Given the description of an element on the screen output the (x, y) to click on. 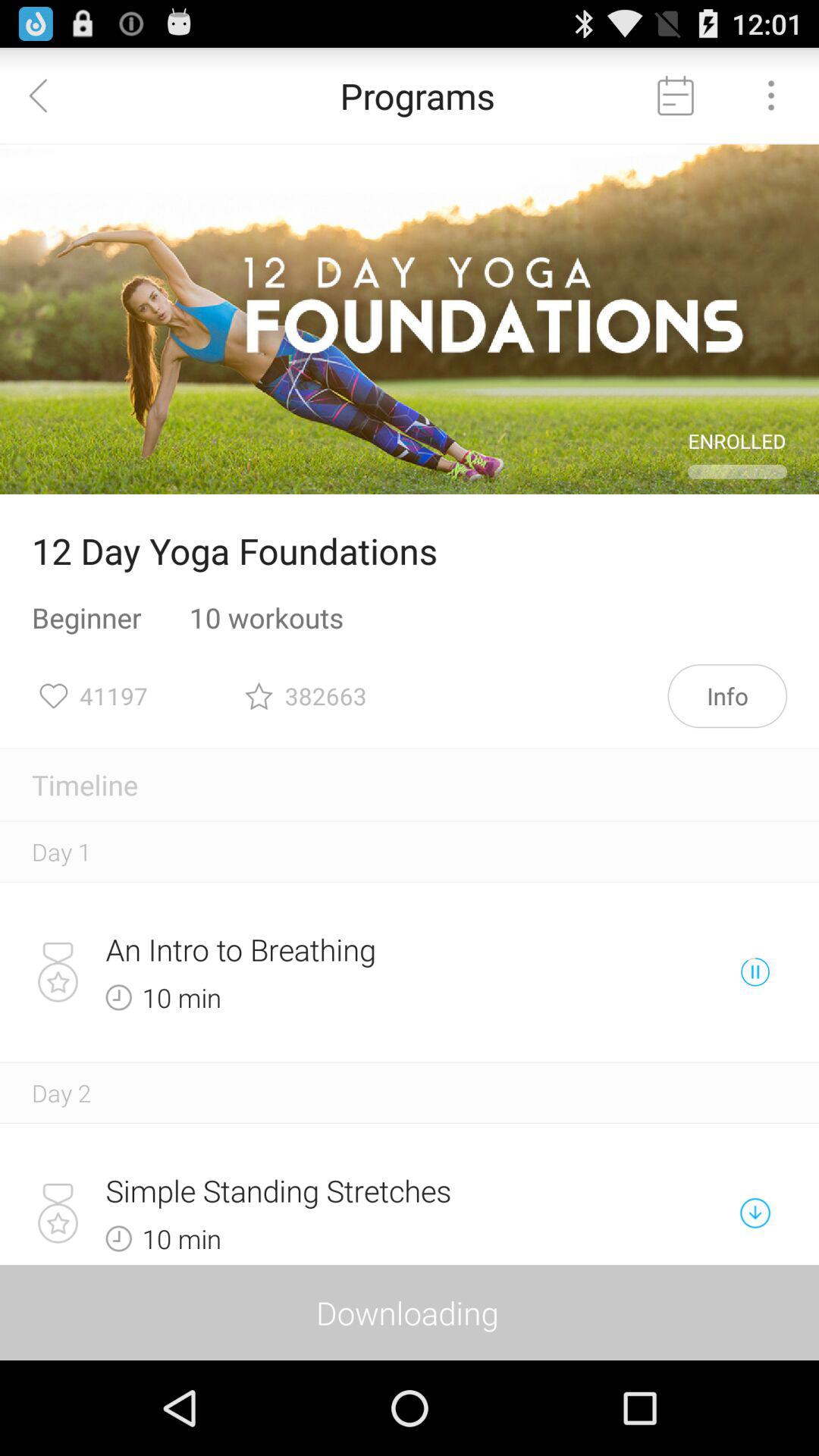
open the day 1 item (61, 851)
